Given the description of an element on the screen output the (x, y) to click on. 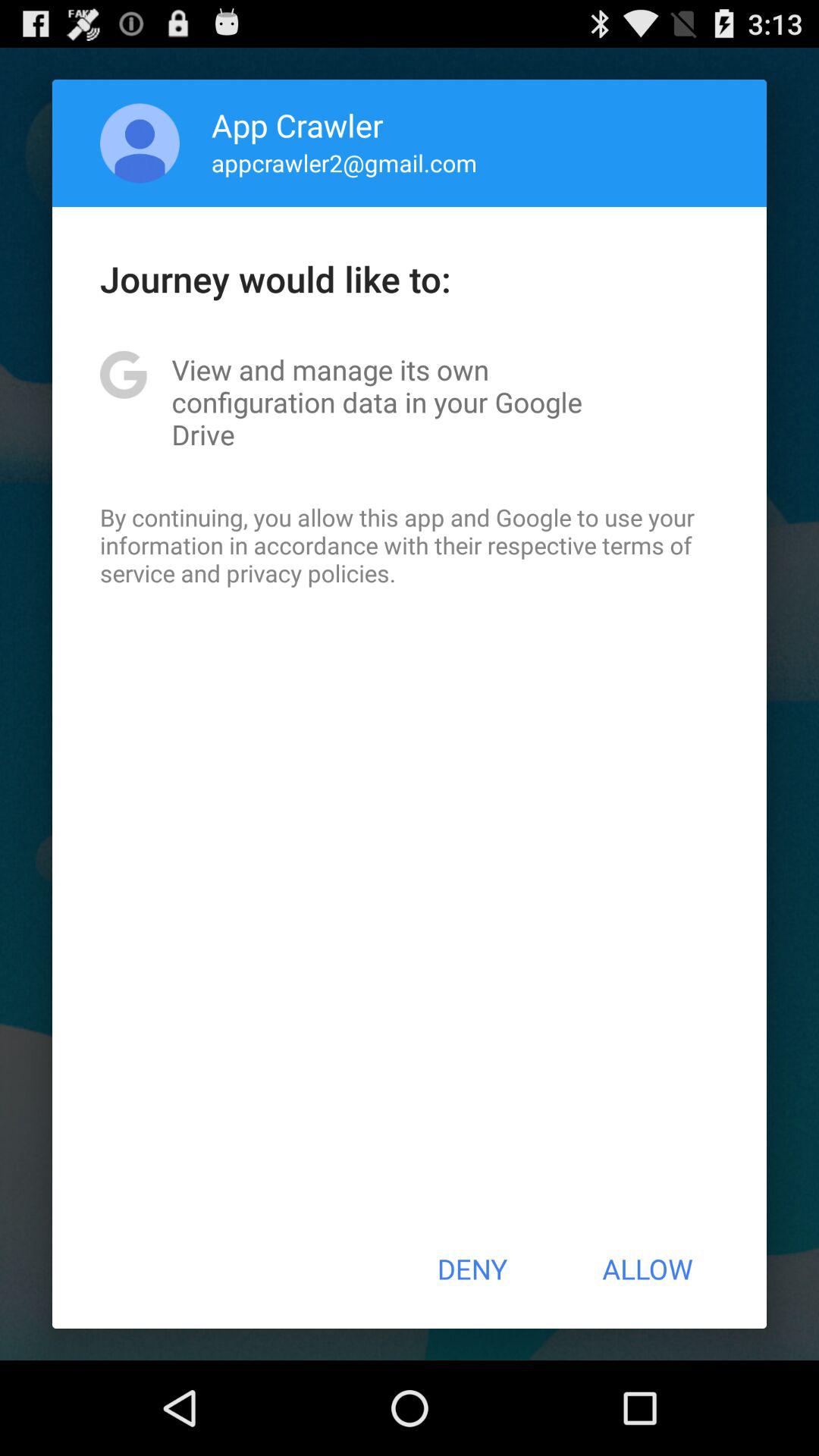
tap app crawler icon (297, 124)
